Given the description of an element on the screen output the (x, y) to click on. 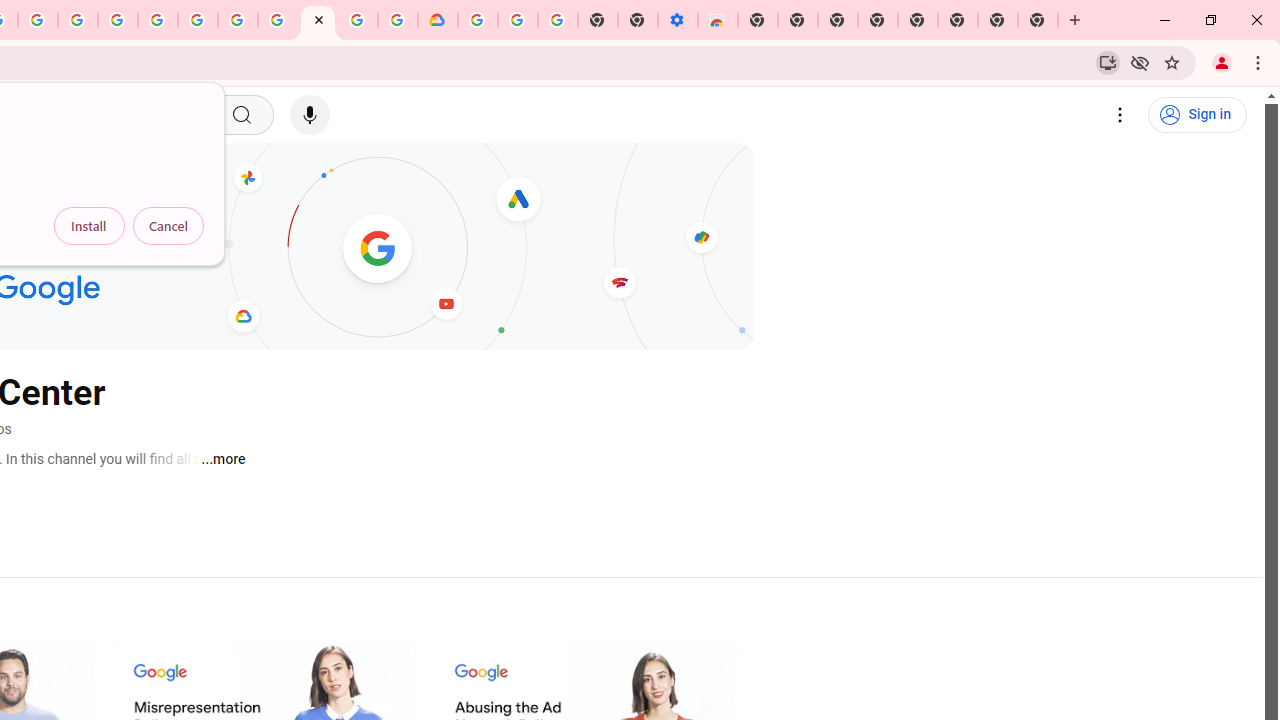
Search with your voice (309, 115)
Create your Google Account (357, 20)
Install YouTube (1107, 62)
Ad Settings (118, 20)
Sign in - Google Accounts (477, 20)
Cancel (168, 225)
New Tab (758, 20)
